Given the description of an element on the screen output the (x, y) to click on. 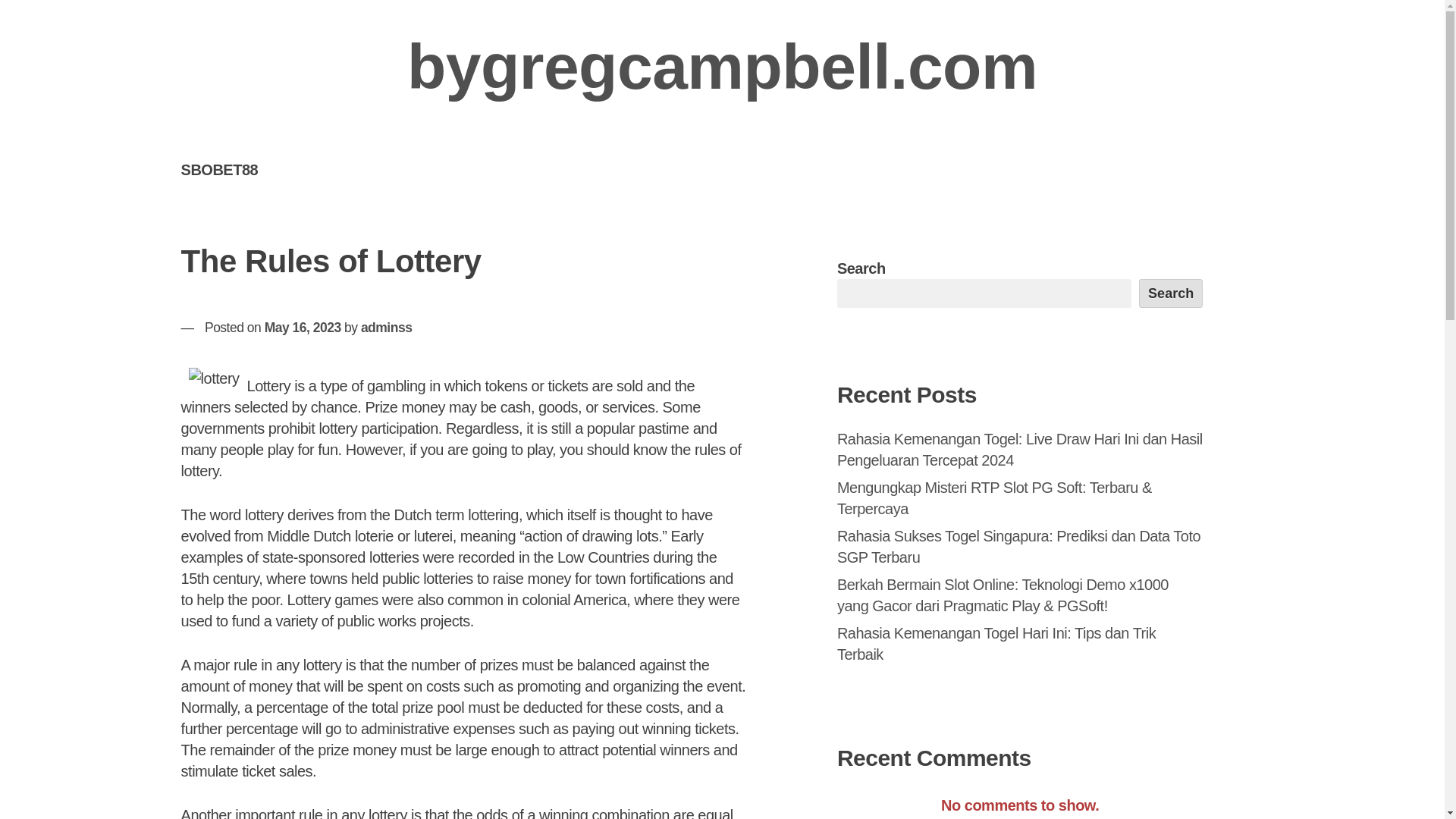
Search (1171, 293)
adminss (386, 327)
SBOBET88 (219, 169)
Rahasia Kemenangan Togel Hari Ini: Tips dan Trik Terbaik (996, 643)
bygregcampbell.com (721, 66)
May 16, 2023 (302, 327)
